Given the description of an element on the screen output the (x, y) to click on. 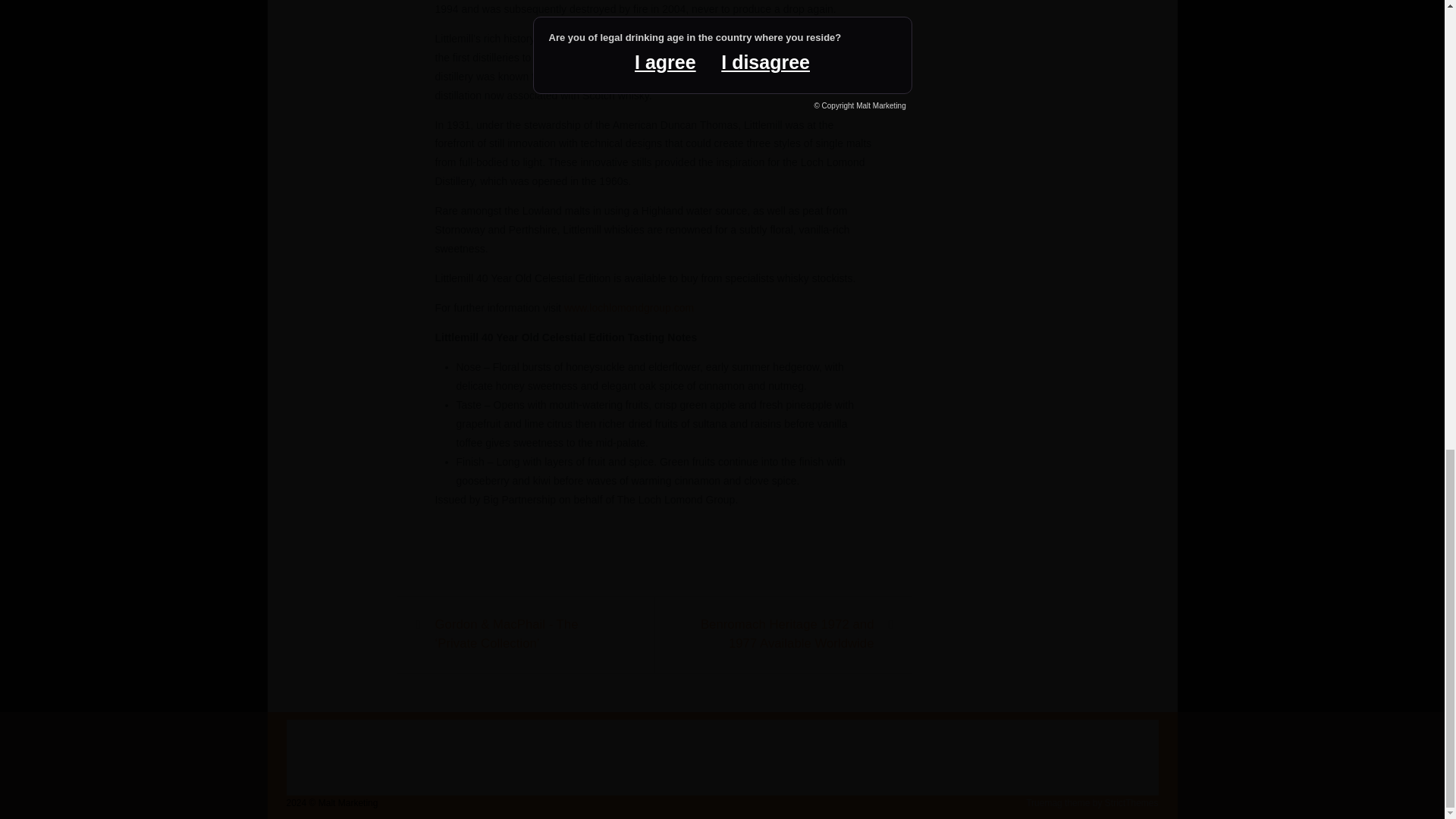
Previous (523, 634)
www.lochlomondgroup.com (629, 307)
Next (786, 634)
Benromach Heritage 1972 and 1977 Available Worldwide (786, 634)
